Given the description of an element on the screen output the (x, y) to click on. 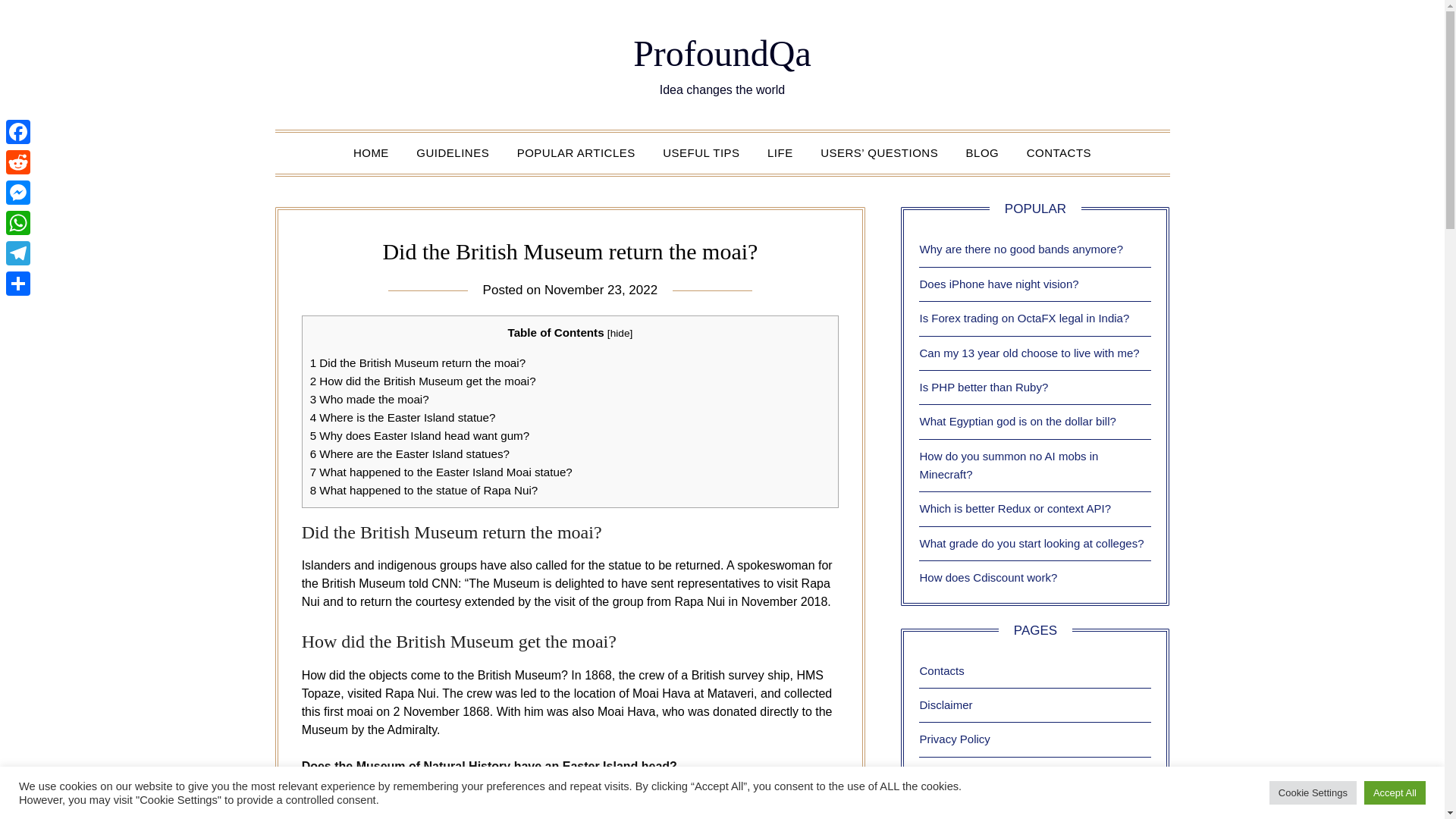
3 Who made the moai? (369, 399)
Does iPhone have night vision? (998, 283)
Is PHP better than Ruby? (983, 386)
Telegram (17, 253)
POPULAR ARTICLES (576, 152)
CONTACTS (1058, 152)
Which is better Redux or context API? (1014, 508)
Messenger (17, 192)
LIFE (780, 152)
2 How did the British Museum get the moai? (422, 380)
